Given the description of an element on the screen output the (x, y) to click on. 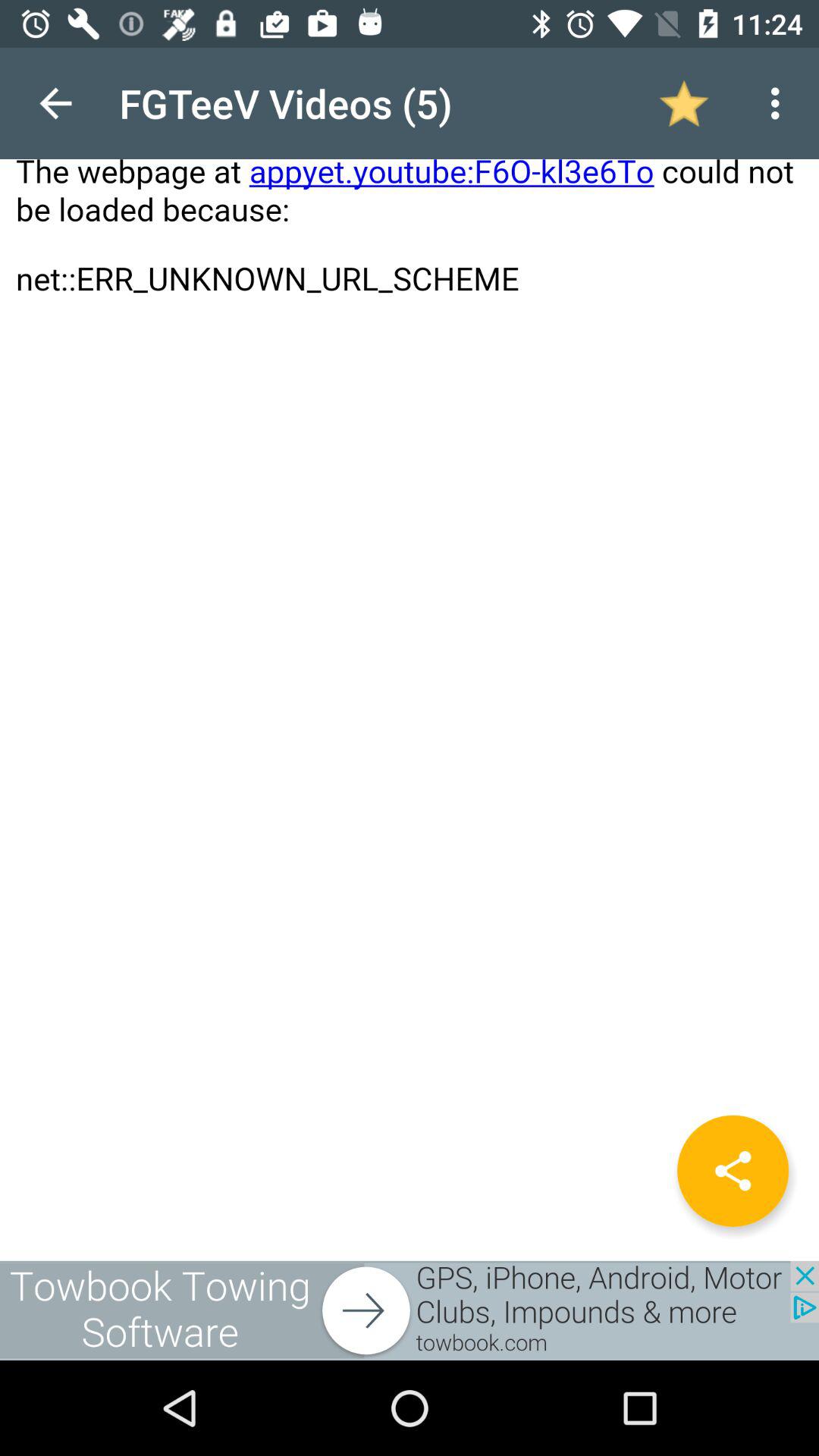
click to go to towbook towing software (409, 1310)
